Given the description of an element on the screen output the (x, y) to click on. 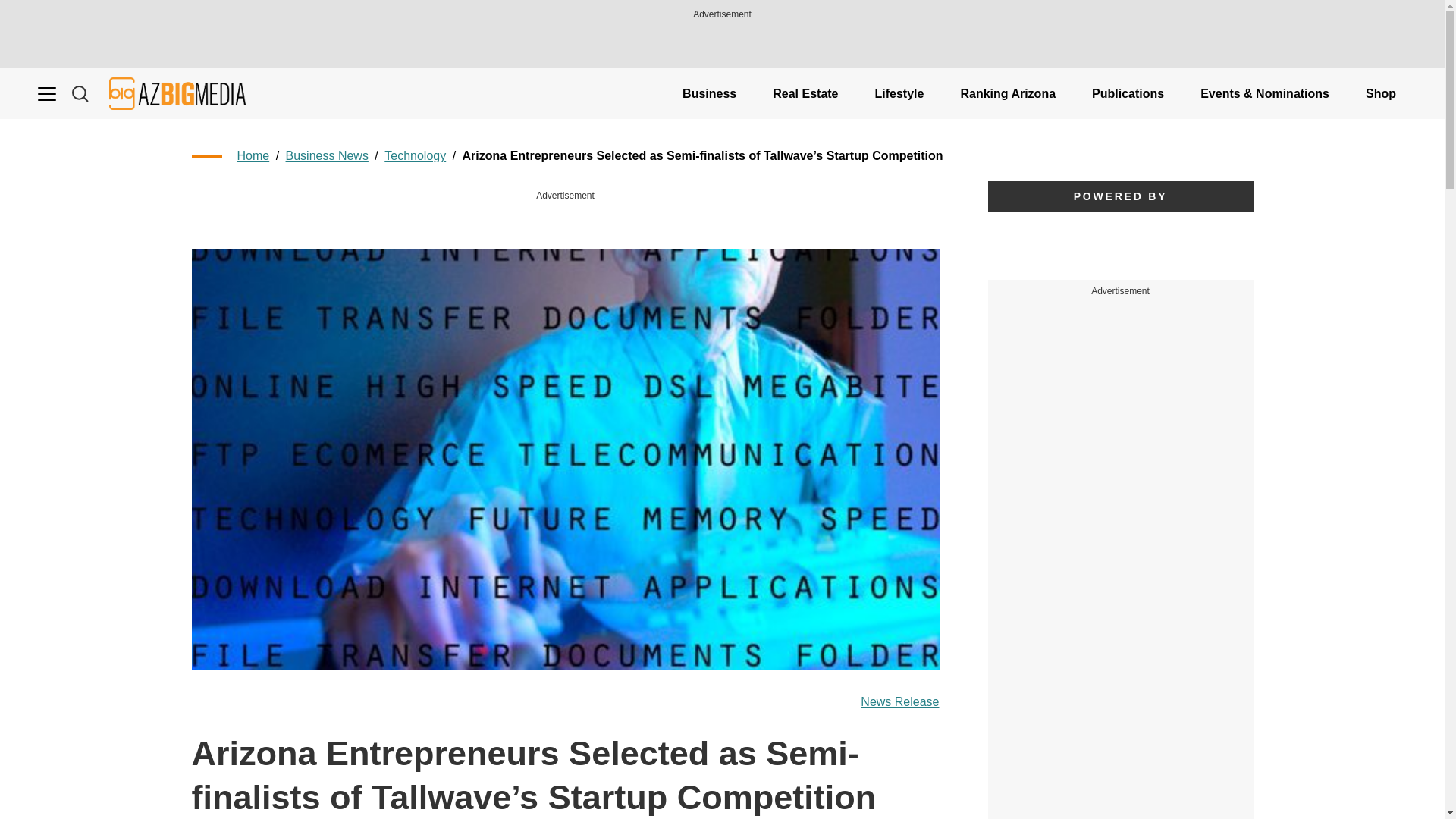
AZ Big Media Logo (177, 92)
Business (708, 92)
Posts by News Release (899, 702)
